Given the description of an element on the screen output the (x, y) to click on. 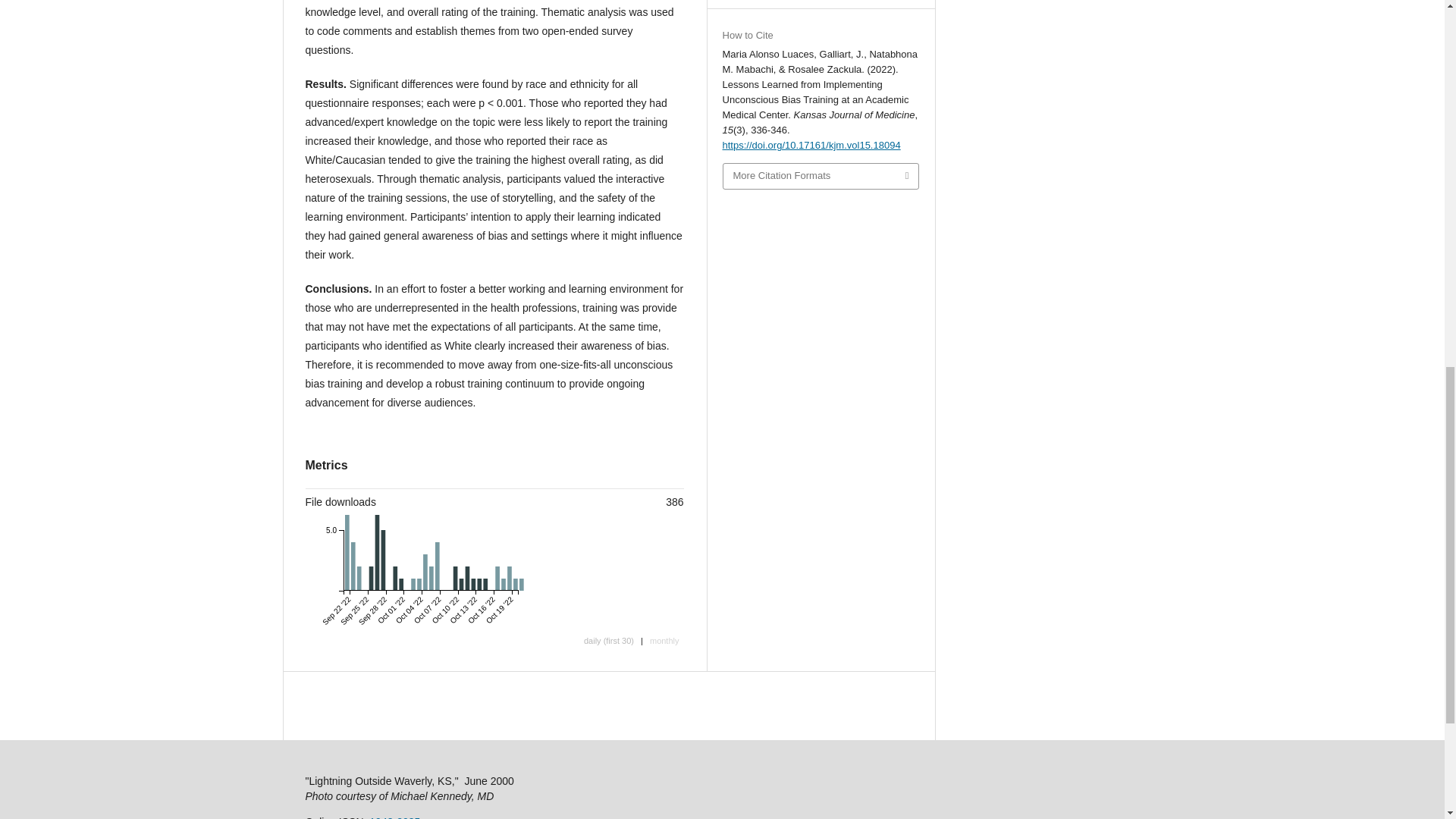
monthly (664, 641)
site opens in new window (394, 817)
More Citation Formats (820, 176)
